Given the description of an element on the screen output the (x, y) to click on. 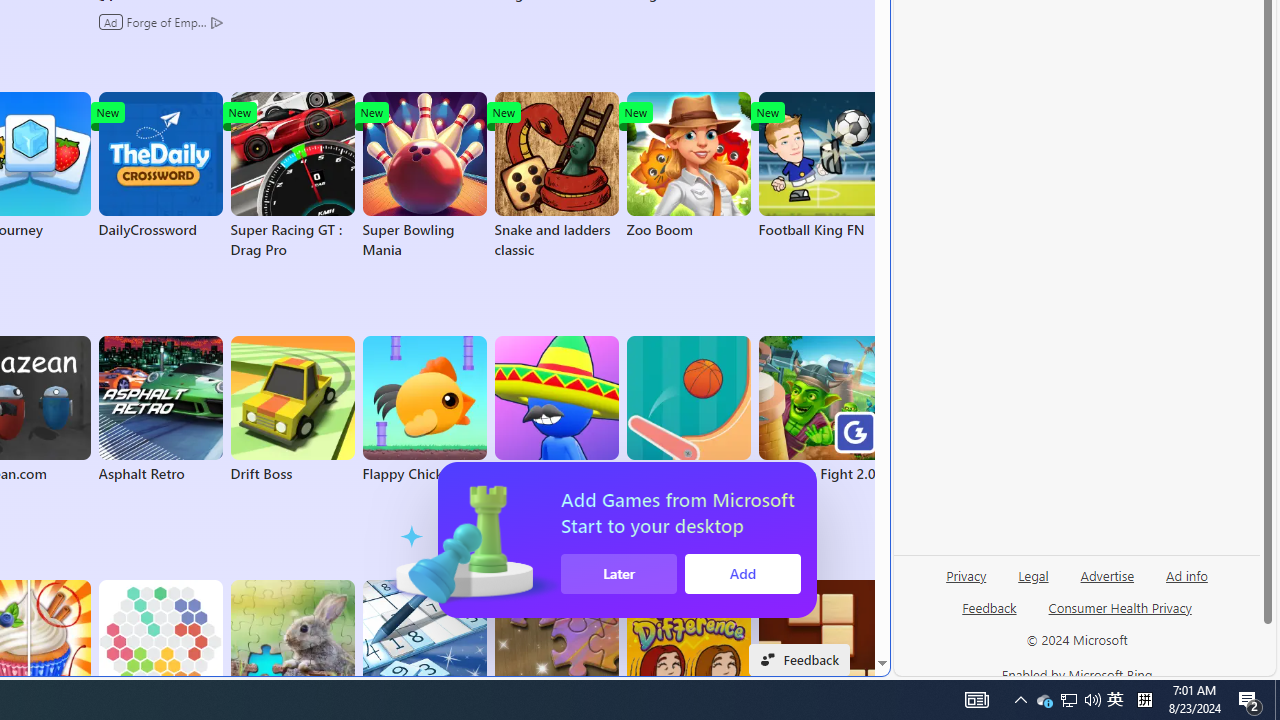
Class: pwa-upsell-icon (720, 539)
Football King FN (820, 165)
Drift Boss (292, 409)
Zoo Boom (688, 165)
DailyCrossword (160, 165)
Asphalt Retro (160, 409)
Snake and ladders classic (556, 175)
Kingdom Fight 2.0 (820, 409)
Later (870, 573)
Super Bowling Mania (424, 175)
Consumer Health Privacy (1119, 615)
